Given the description of an element on the screen output the (x, y) to click on. 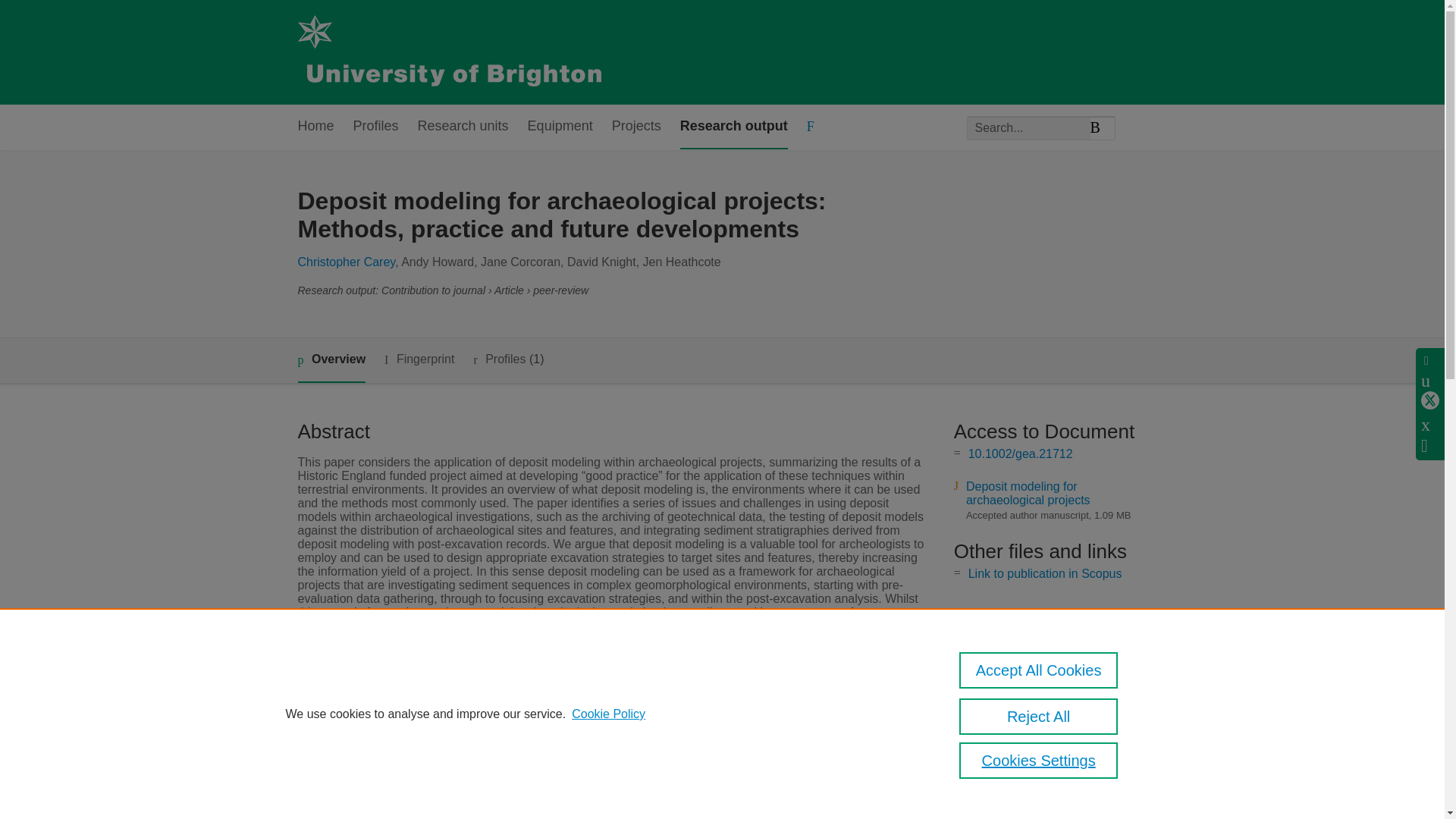
Research units (462, 126)
Geoarchaeology (554, 716)
Equipment (559, 126)
Projects (636, 126)
Overview (331, 360)
Research output (733, 126)
Deposit modeling for archaeological projects (1028, 492)
Link to publication in Scopus (1045, 573)
Profiles (375, 126)
Fingerprint (419, 359)
The University of Brighton Home (448, 52)
Christopher Carey (345, 261)
